Given the description of an element on the screen output the (x, y) to click on. 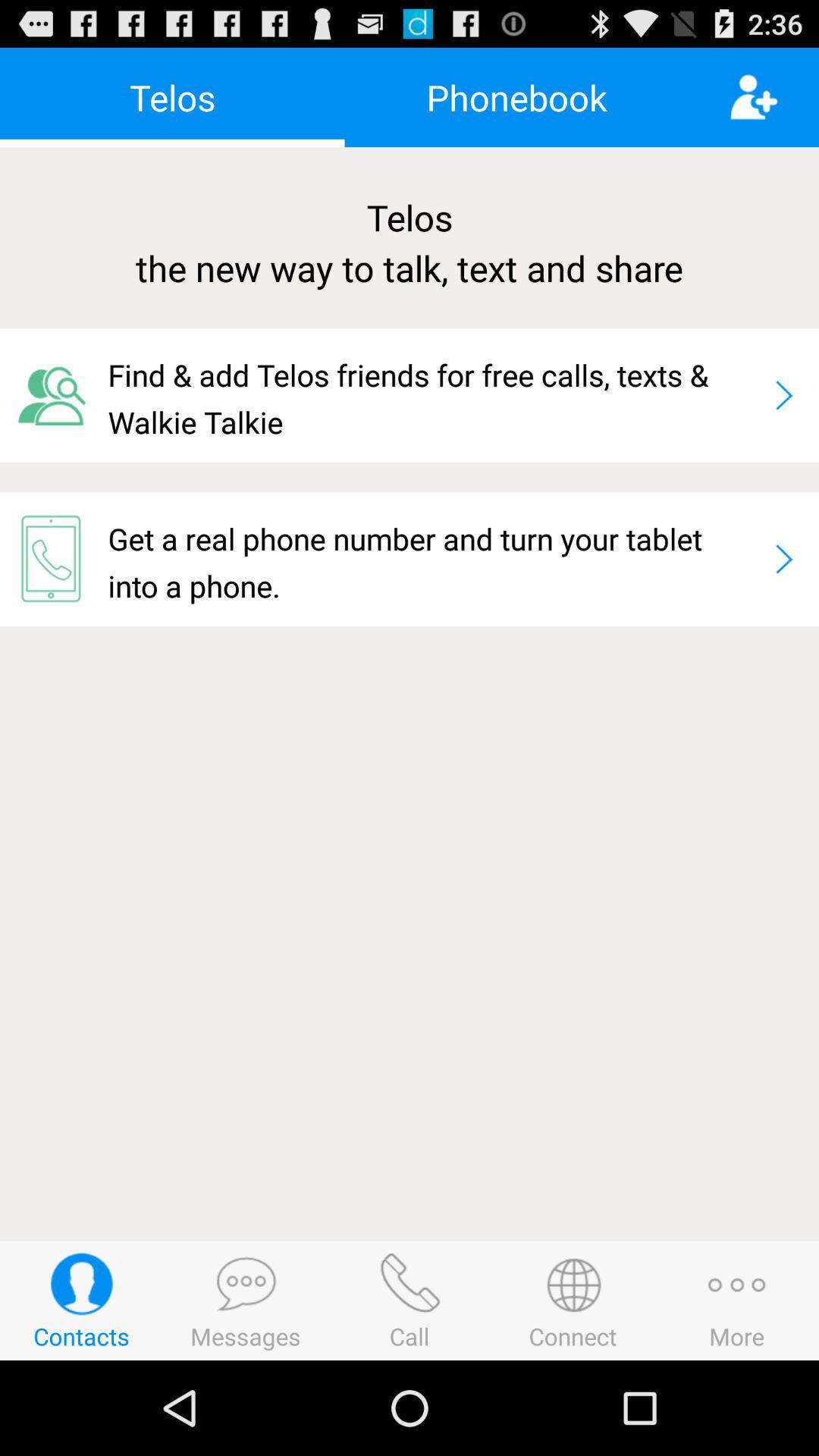
press get a real item (433, 559)
